Given the description of an element on the screen output the (x, y) to click on. 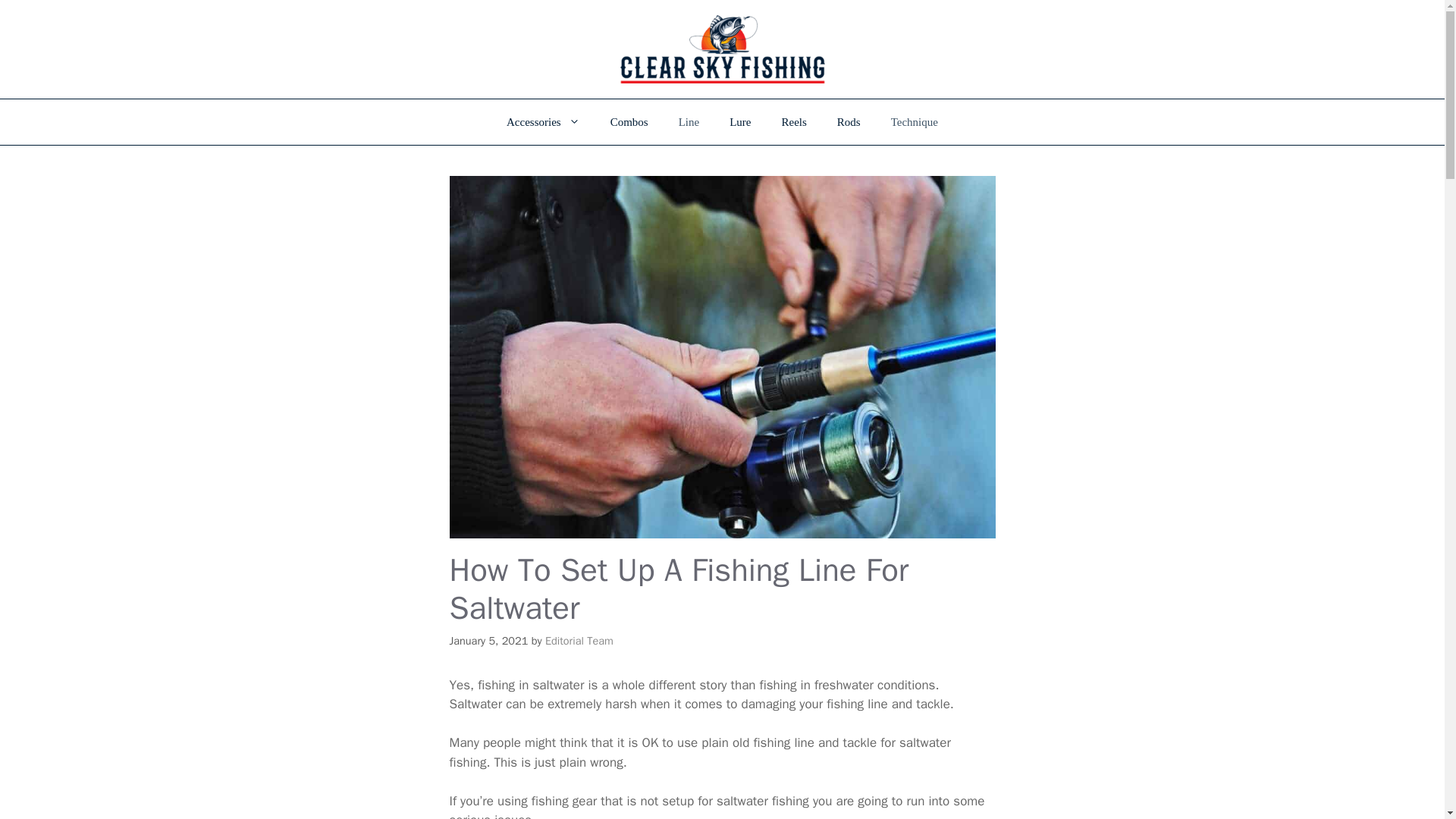
Line (688, 121)
Rods (849, 121)
Lure (739, 121)
View all posts by Editorial Team (578, 640)
Accessories (543, 121)
Reels (794, 121)
Combos (629, 121)
Technique (914, 121)
Editorial Team (578, 640)
